Given the description of an element on the screen output the (x, y) to click on. 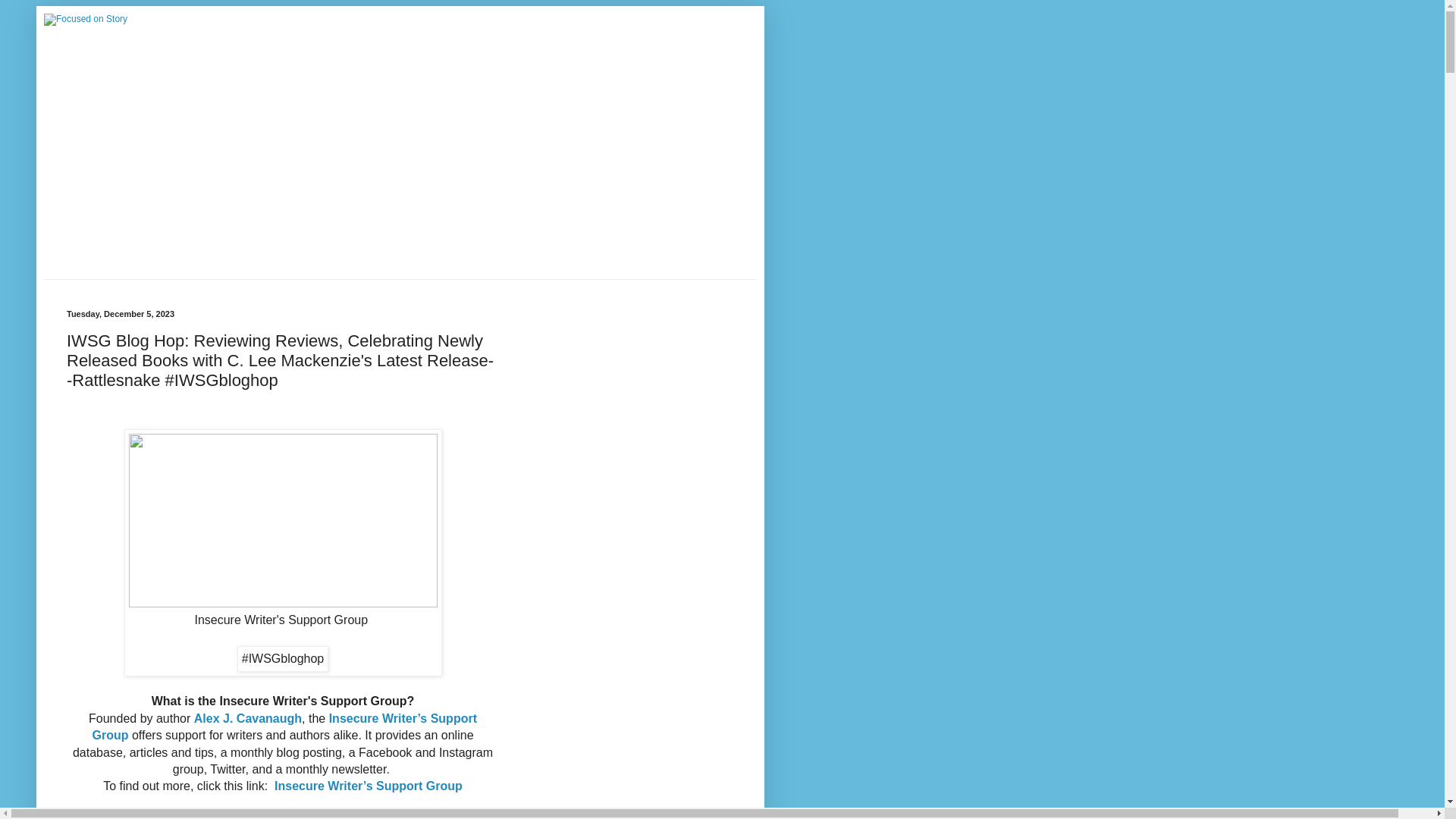
 Alex J. Cavanaugh (245, 717)
